Given the description of an element on the screen output the (x, y) to click on. 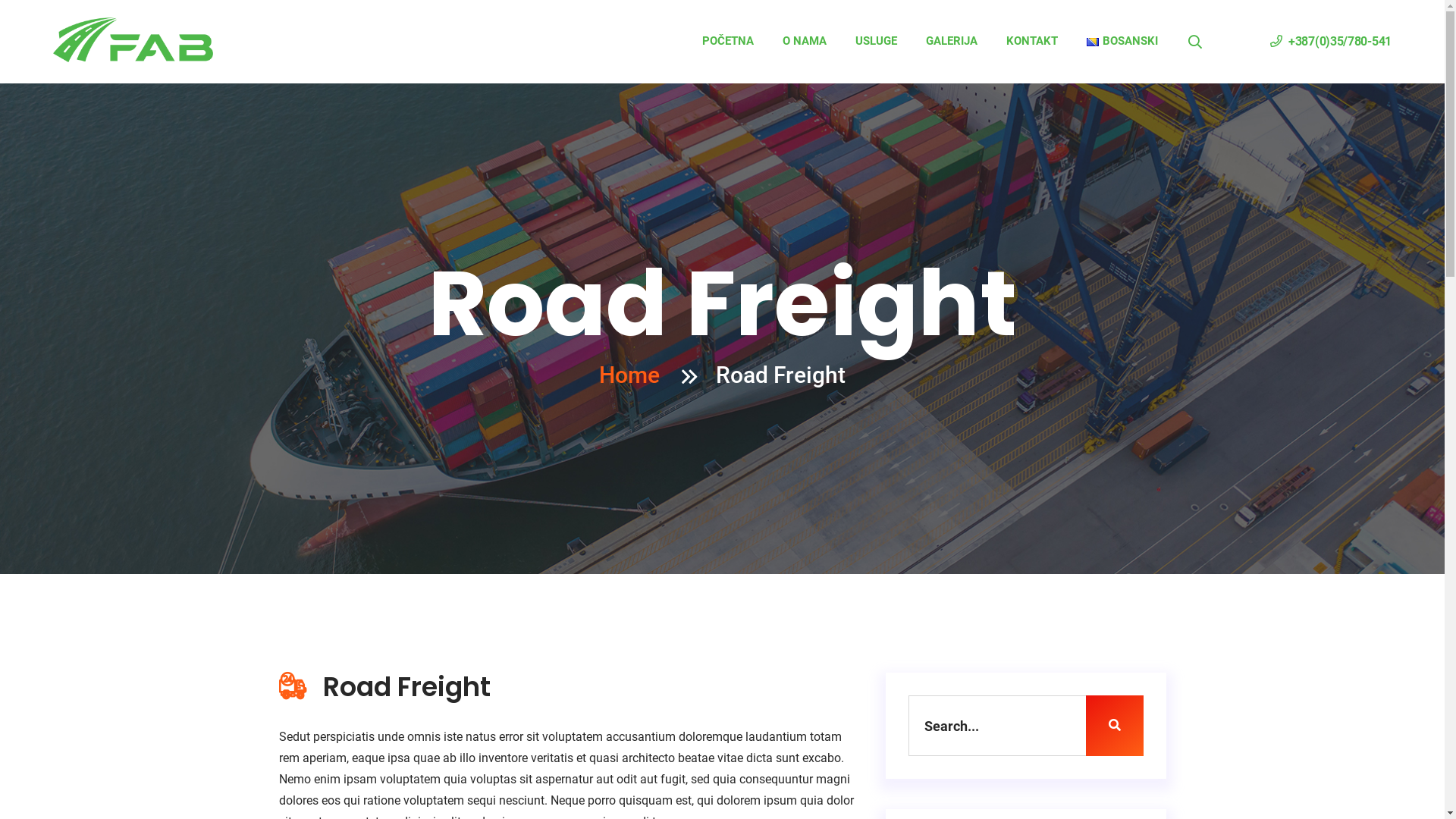
GALERIJA Element type: text (951, 41)
Home Element type: text (629, 374)
O NAMA Element type: text (804, 41)
KONTAKT Element type: text (1031, 41)
BOSANSKI Element type: text (1121, 41)
USLUGE Element type: text (876, 41)
